Given the description of an element on the screen output the (x, y) to click on. 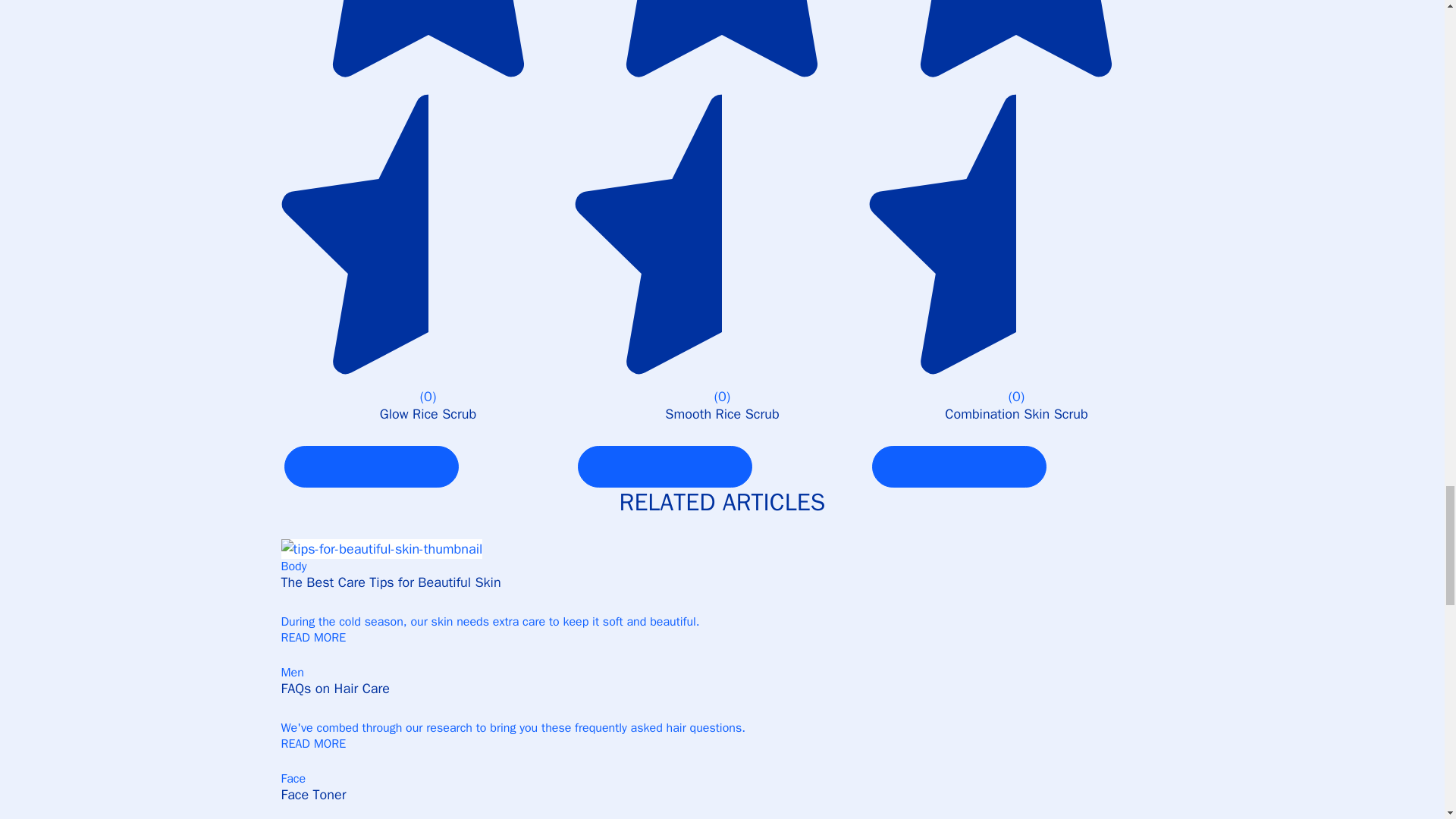
The Best Care Tips for Beautiful Skin  (722, 591)
Hair FAQS (722, 698)
